Given the description of an element on the screen output the (x, y) to click on. 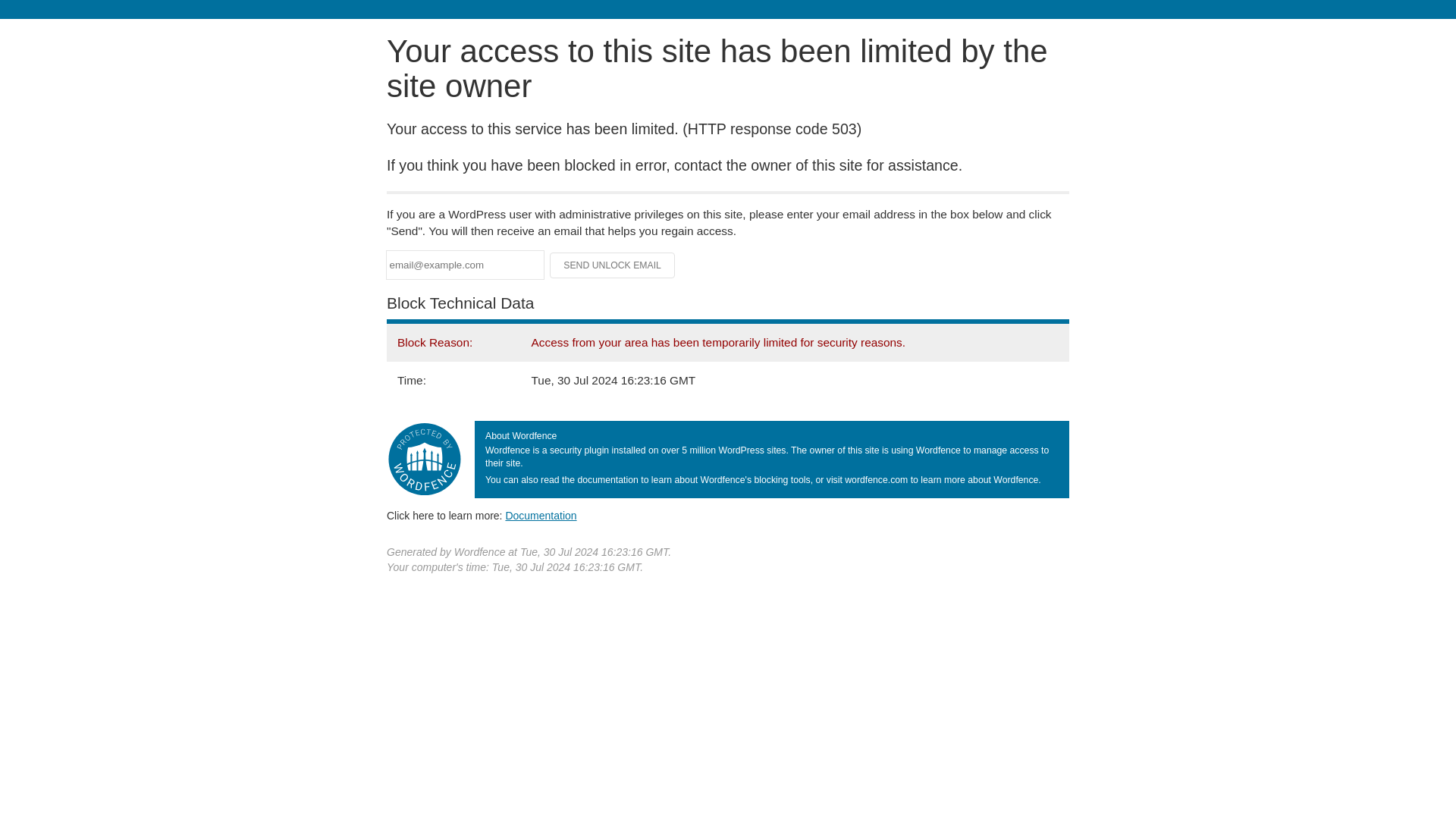
Send Unlock Email (612, 265)
Documentation (540, 515)
Send Unlock Email (612, 265)
